Given the description of an element on the screen output the (x, y) to click on. 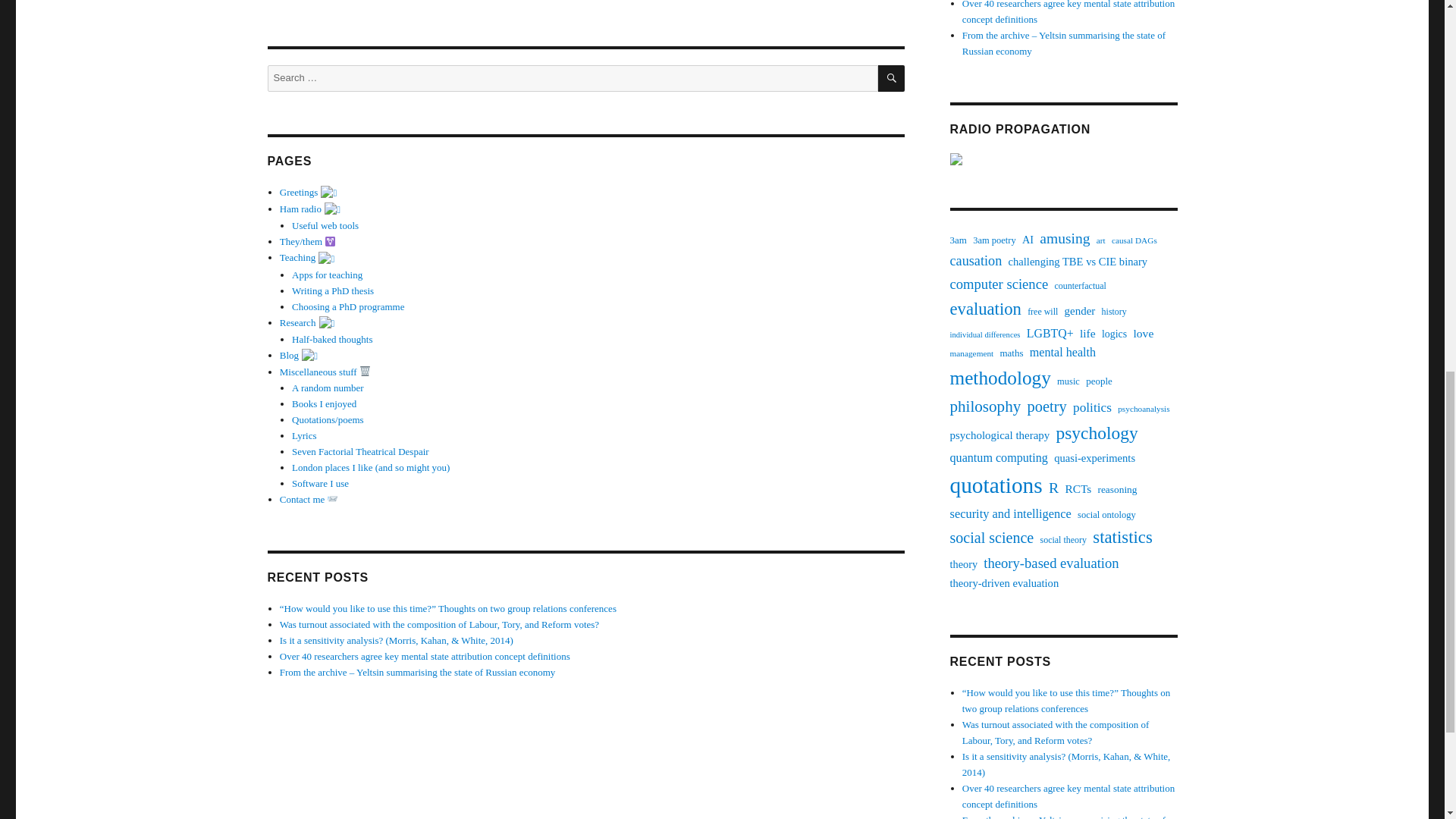
Lyrics (304, 435)
Click to add Solar-Terrestrial Data to your website! (1062, 159)
Ham radio (309, 208)
Research (306, 322)
Choosing a PhD programme (348, 306)
Books I enjoyed (324, 403)
Seven Factorial Theatrical Despair (360, 451)
SEARCH (890, 78)
Useful web tools (325, 225)
Half-baked thoughts (332, 338)
Apps for teaching (327, 274)
Software I use (320, 482)
Contact me (309, 499)
